Given the description of an element on the screen output the (x, y) to click on. 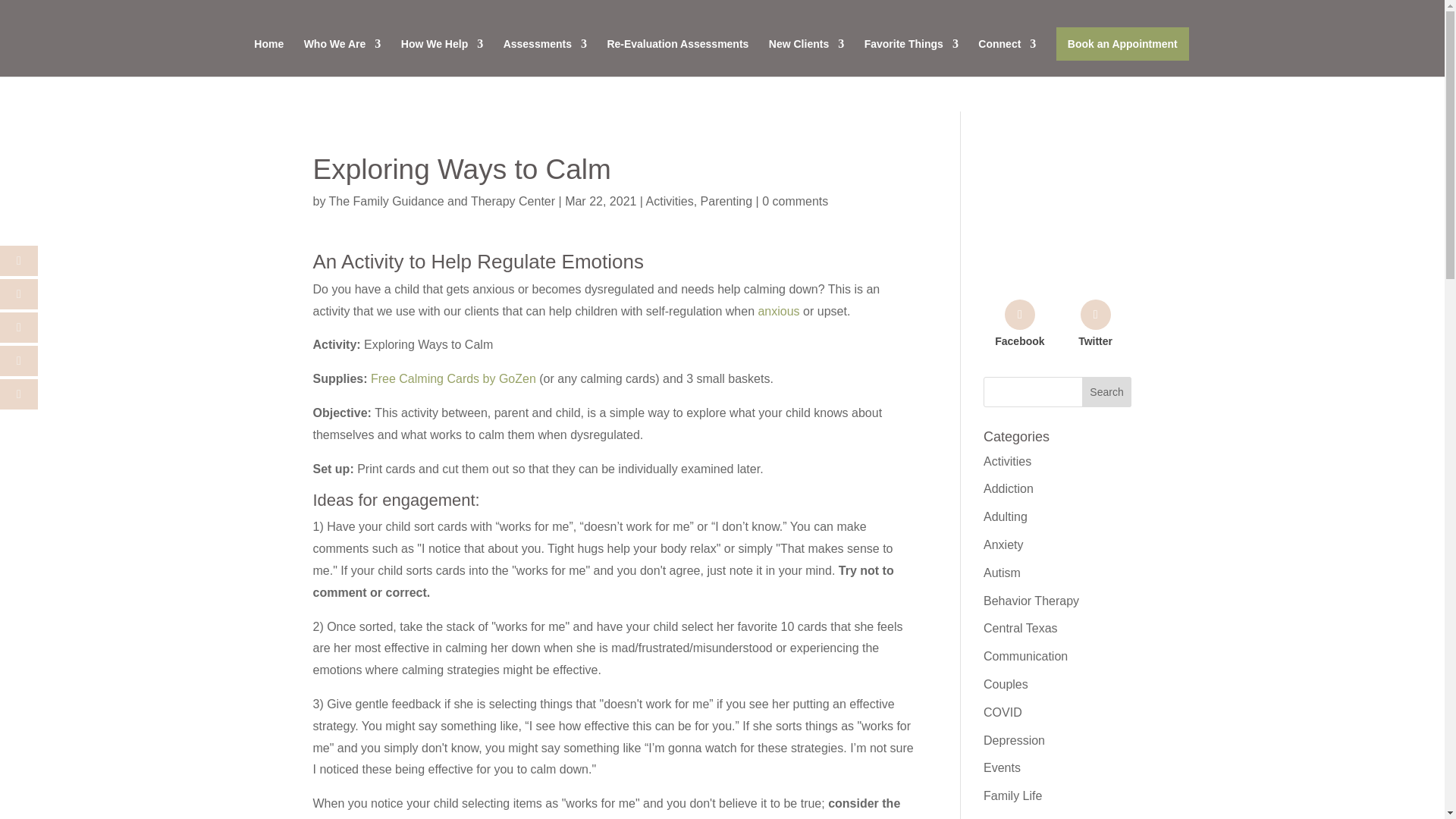
How We Help (442, 57)
Family Therapy Blogs (1057, 264)
Assessments (544, 57)
Who We Are (342, 57)
Posts by The Family Guidance and Therapy Center (442, 201)
Search (1106, 391)
